Given the description of an element on the screen output the (x, y) to click on. 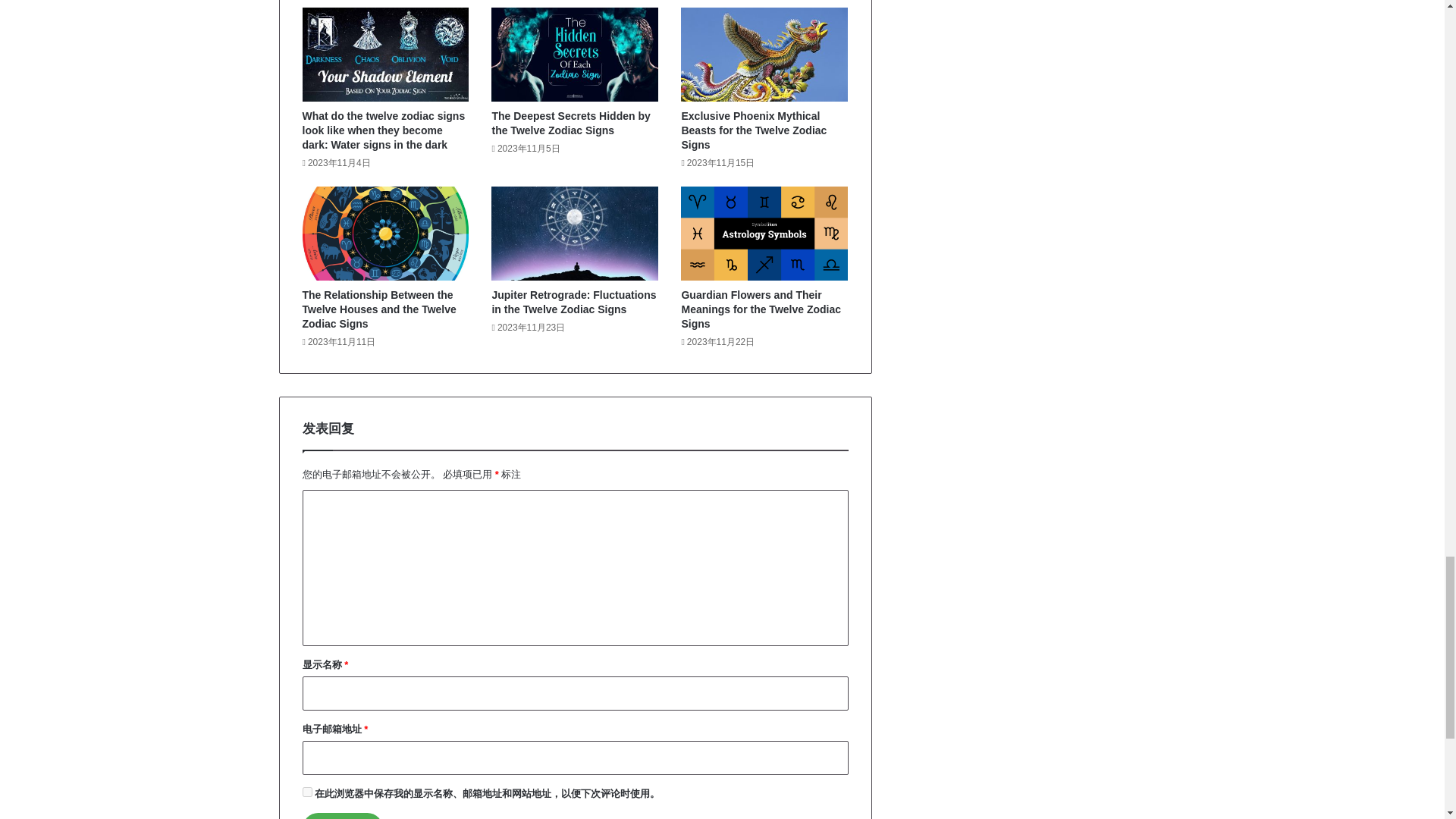
yes (306, 791)
